Given the description of an element on the screen output the (x, y) to click on. 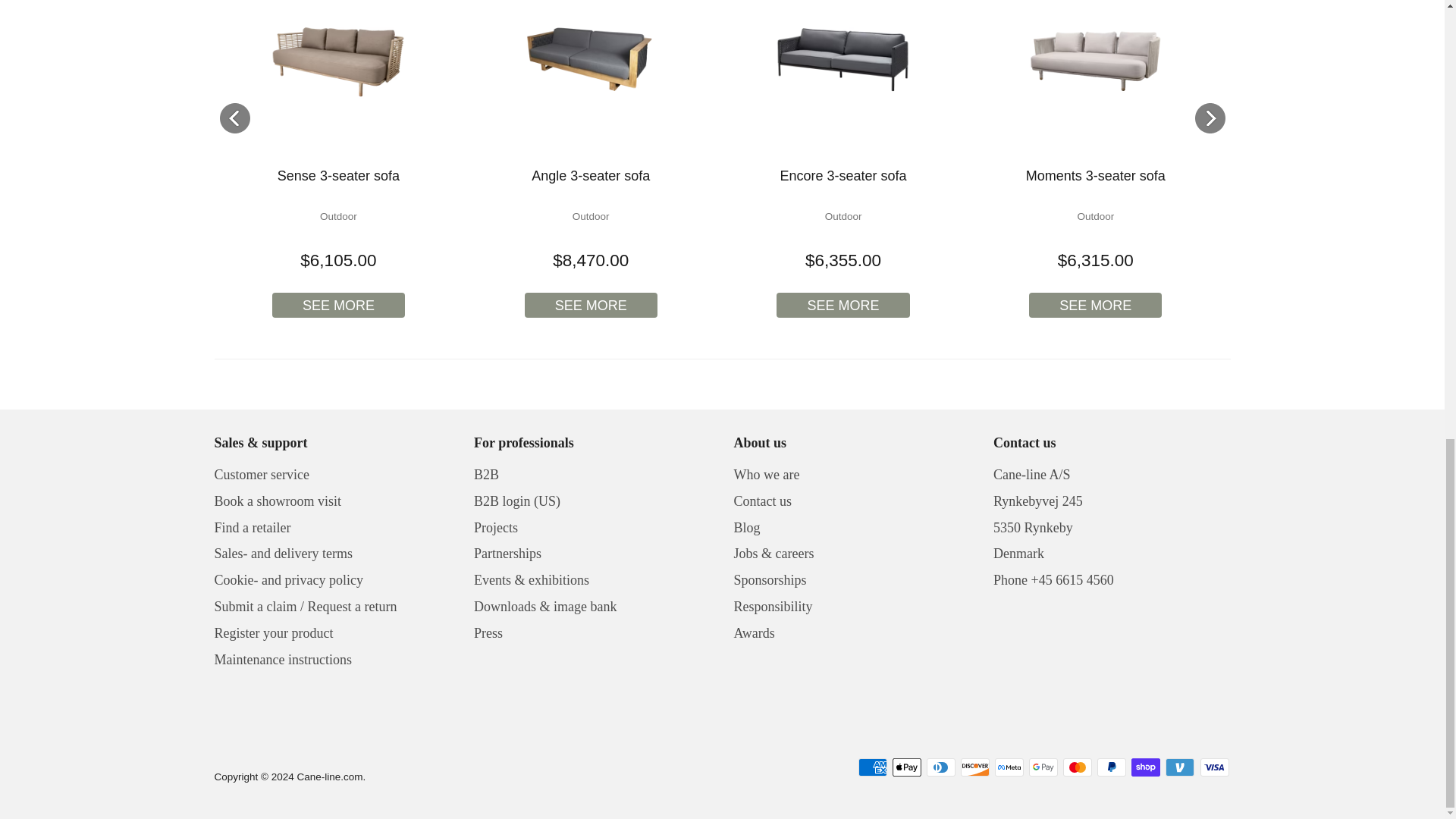
Shop Pay (1145, 767)
Venmo (1179, 767)
Meta Pay (1008, 767)
PayPal (1111, 767)
Apple Pay (906, 767)
Diners Club (940, 767)
Mastercard (1077, 767)
Google Pay (1043, 767)
Discover (975, 767)
Visa (1213, 767)
American Express (872, 767)
